Given the description of an element on the screen output the (x, y) to click on. 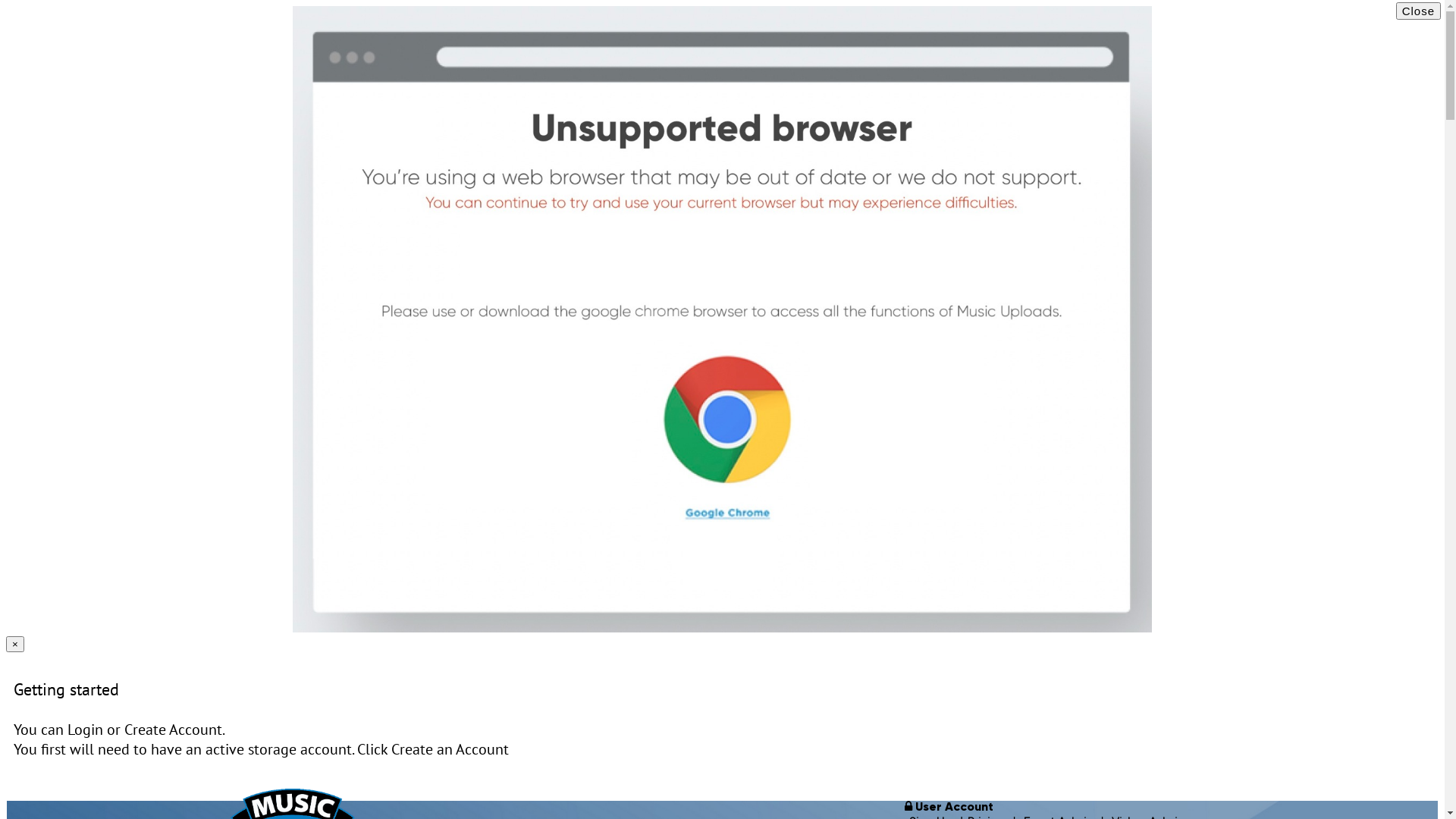
Close Element type: text (1418, 10)
MilleniumDevelopers Element type: text (1391, 81)
